Given the description of an element on the screen output the (x, y) to click on. 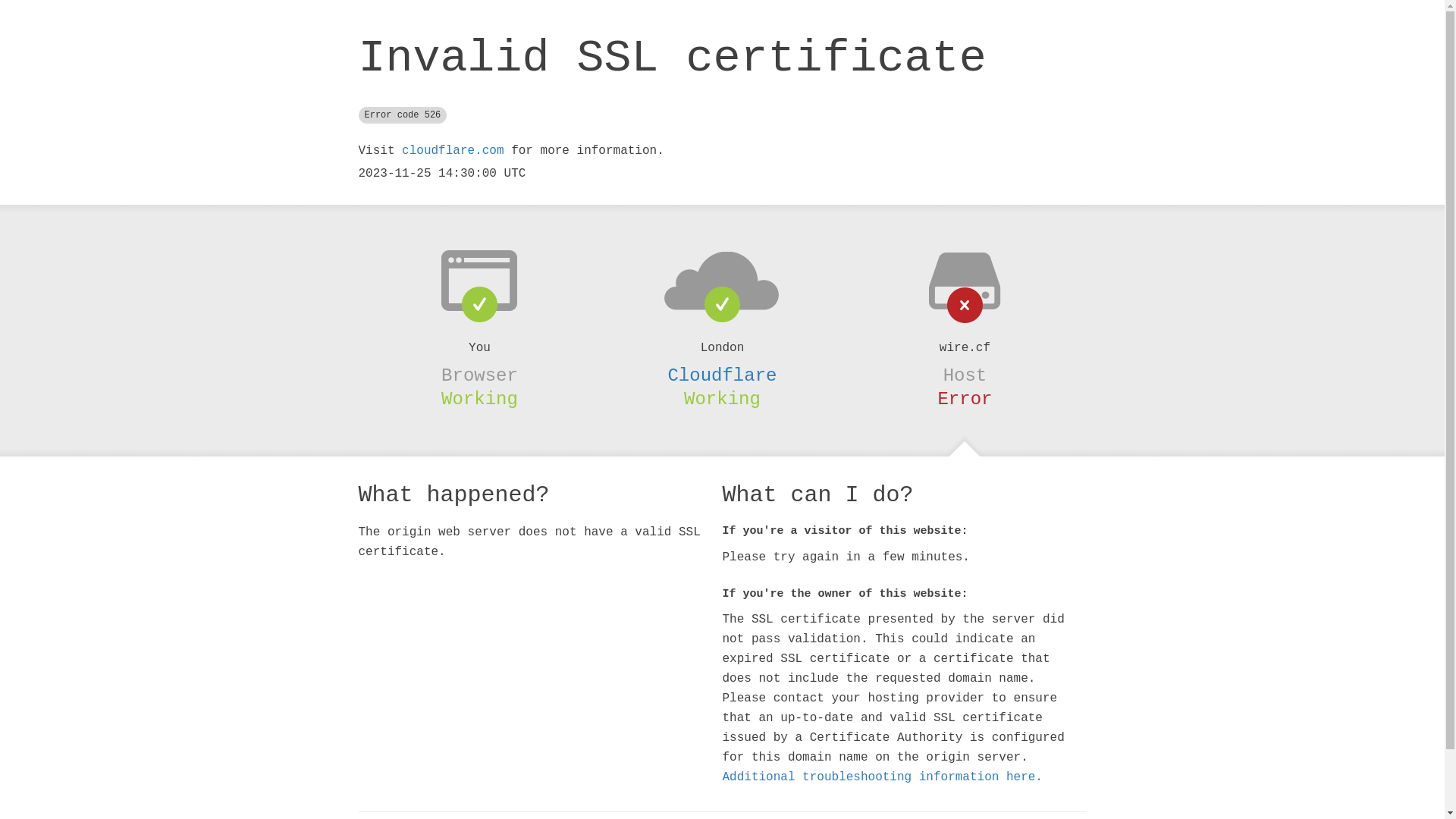
Additional troubleshooting information here. Element type: text (881, 777)
cloudflare.com Element type: text (452, 150)
Cloudflare Element type: text (721, 375)
